Given the description of an element on the screen output the (x, y) to click on. 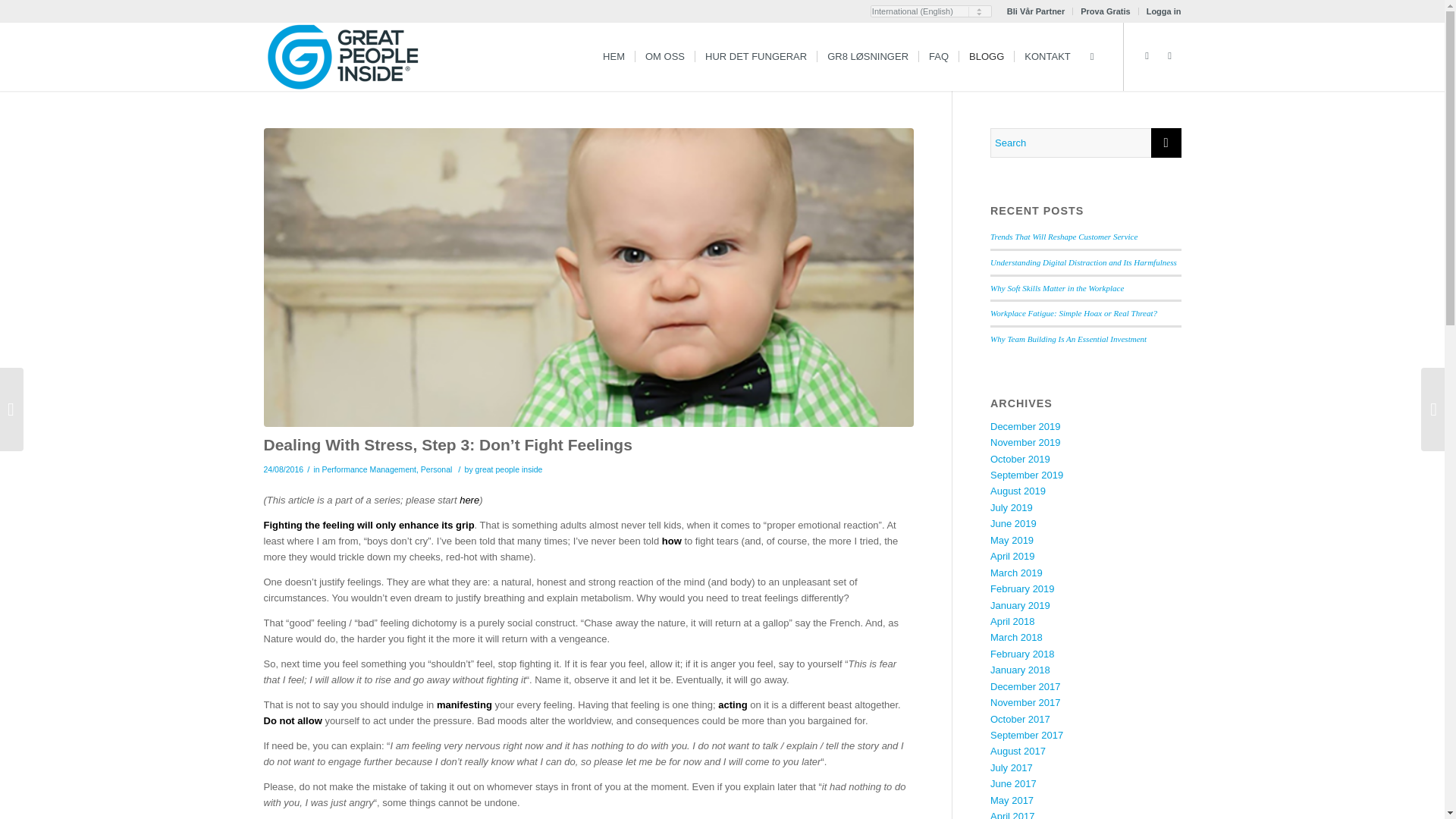
great people inside (509, 469)
Facebook (1169, 56)
Personal (436, 469)
Performance Management (368, 469)
LinkedIn (1146, 56)
here (469, 500)
Logga in (1163, 11)
HUR DET FUNGERAR (755, 56)
Posts by great people inside (509, 469)
KONTAKT (1046, 56)
Prova Gratis (1104, 11)
